Given the description of an element on the screen output the (x, y) to click on. 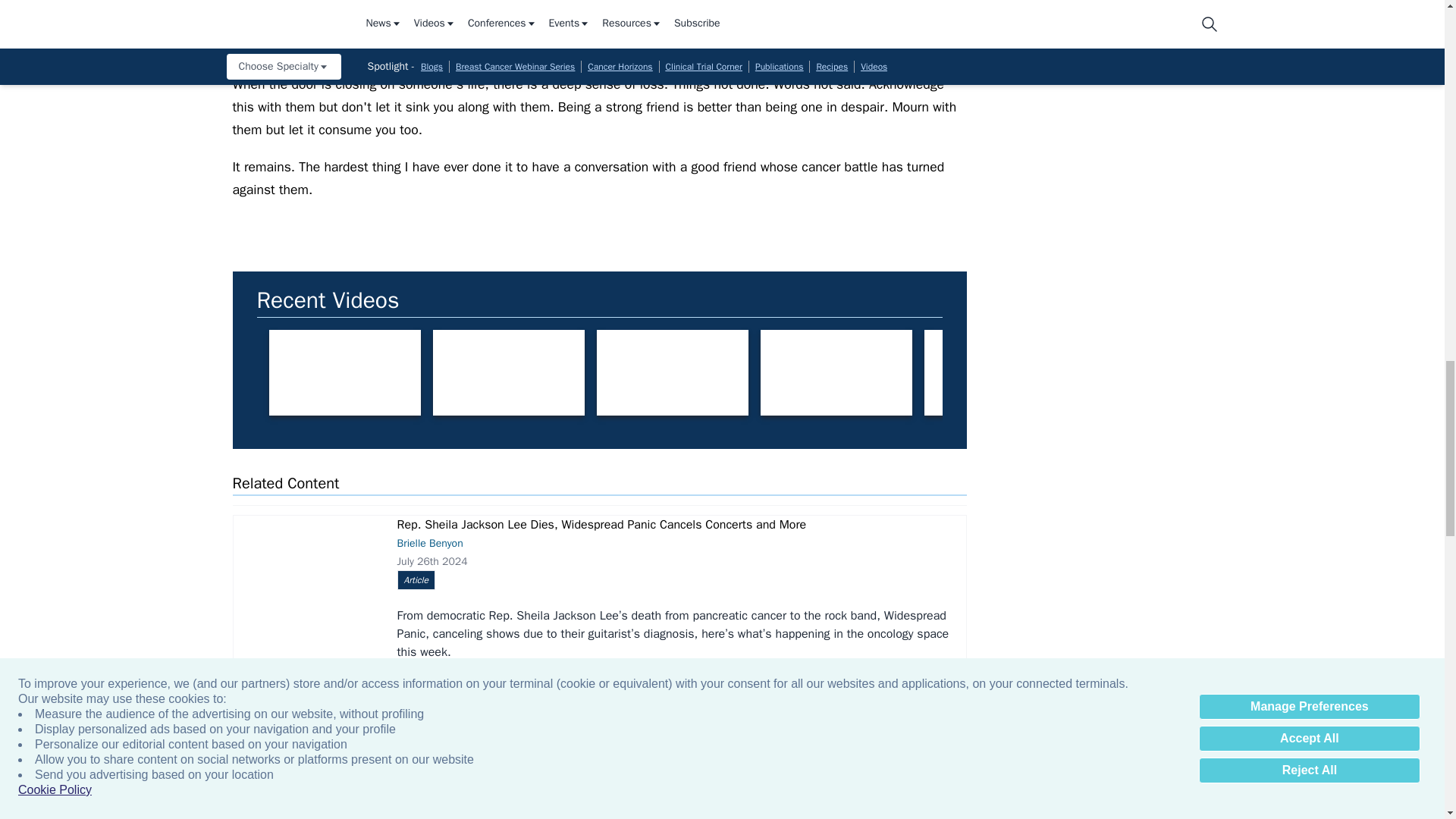
Speaking Out (343, 372)
Speaking Out (507, 372)
Kristie L. Kahl and Dr. Andrew Lowy (1326, 372)
Speaking Out (671, 372)
Speaking Out (835, 372)
Illustration of a body with pancreatic cancer. (305, 570)
Speaking Out (999, 372)
